Given the description of an element on the screen output the (x, y) to click on. 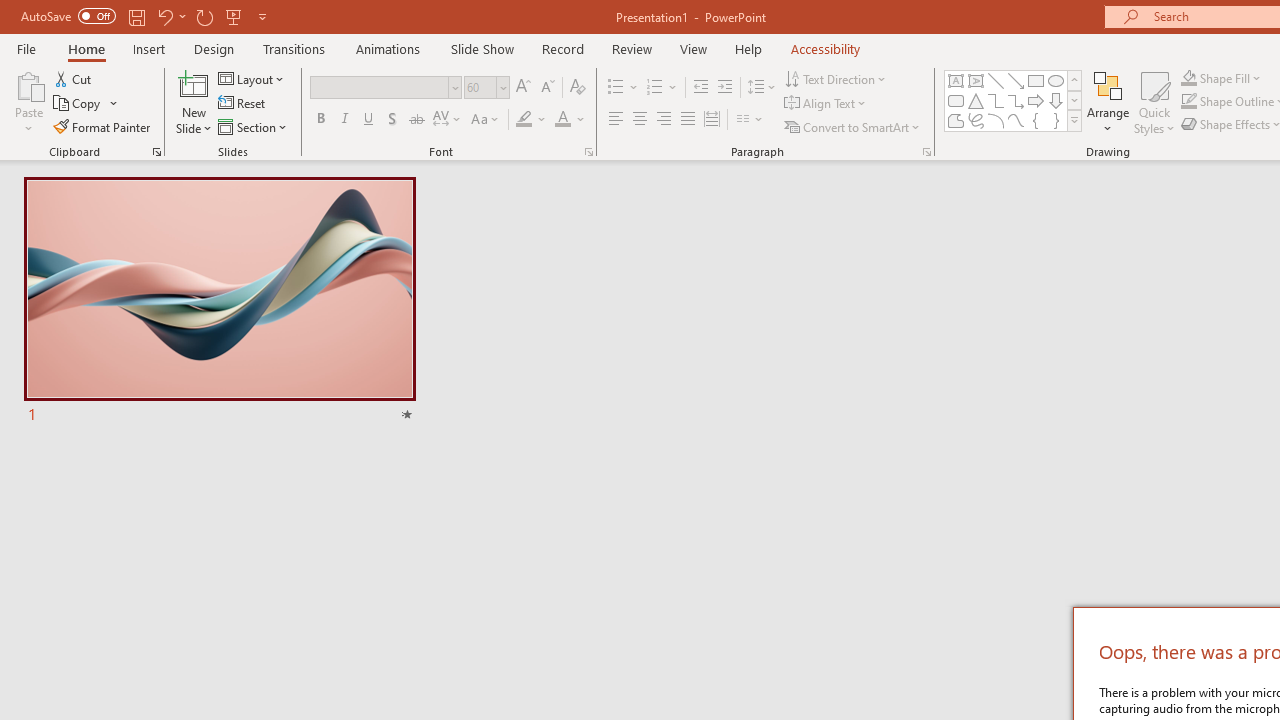
Strikethrough (416, 119)
Connector: Elbow Arrow (1016, 100)
Increase Font Size (522, 87)
Character Spacing (447, 119)
Align Left (616, 119)
Arrange (1108, 102)
Freeform: Shape (955, 120)
Layout (252, 78)
Shape Outline Blue, Accent 1 (1188, 101)
Rectangle: Rounded Corners (955, 100)
